Given the description of an element on the screen output the (x, y) to click on. 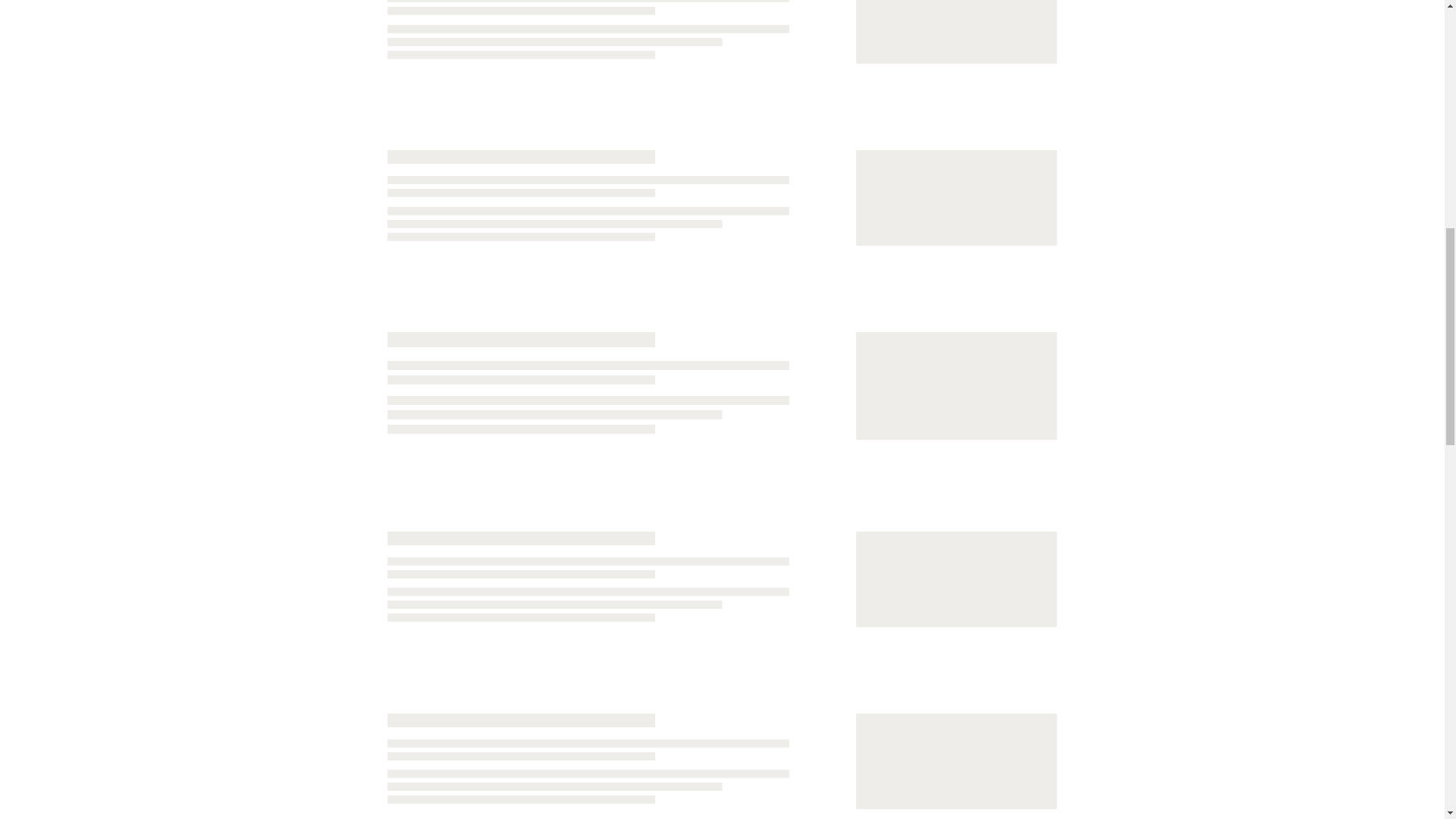
Legal Symbols Keyboard Shortcuts Image (949, 766)
